Given the description of an element on the screen output the (x, y) to click on. 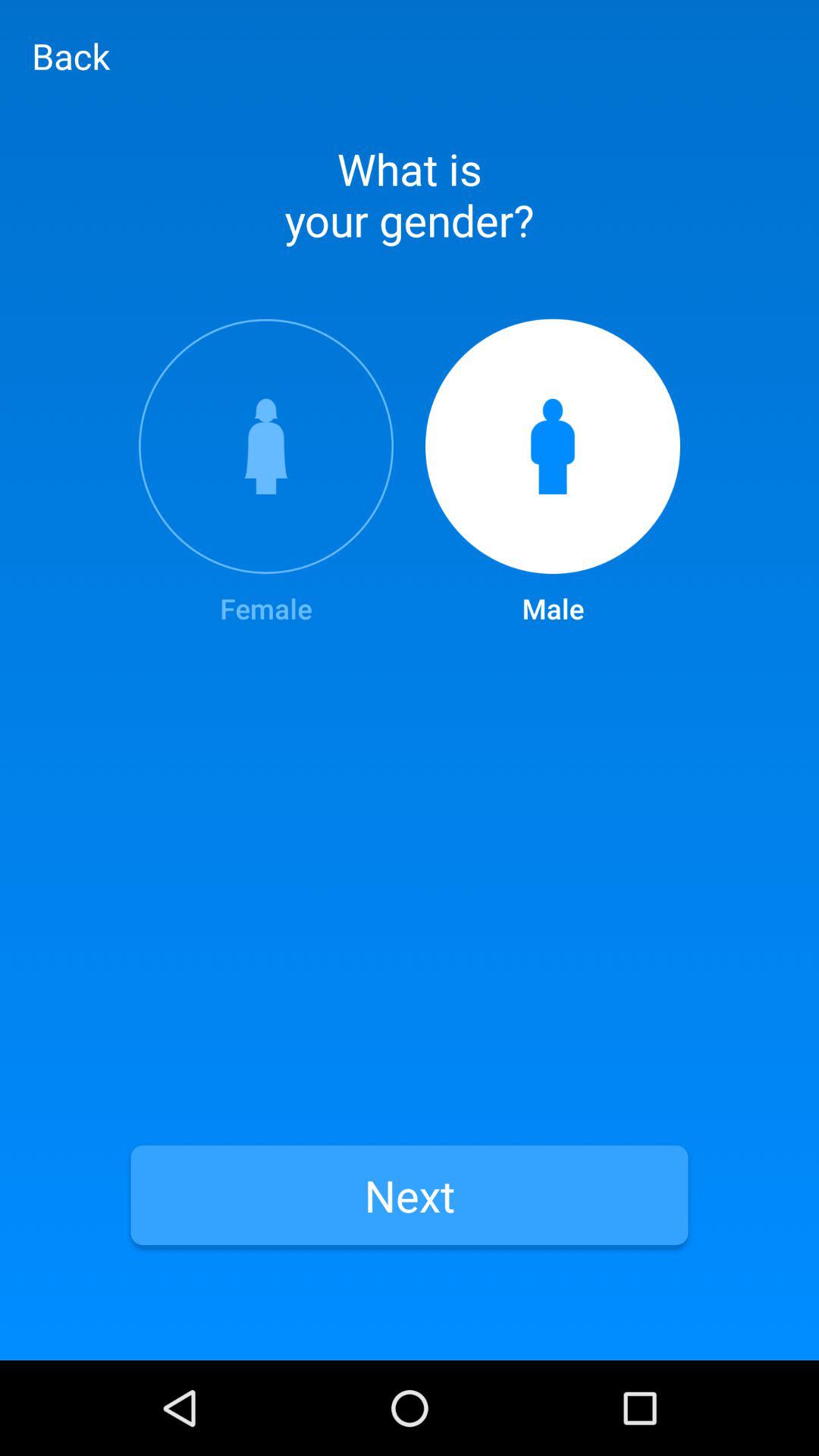
select next item (409, 1194)
